Given the description of an element on the screen output the (x, y) to click on. 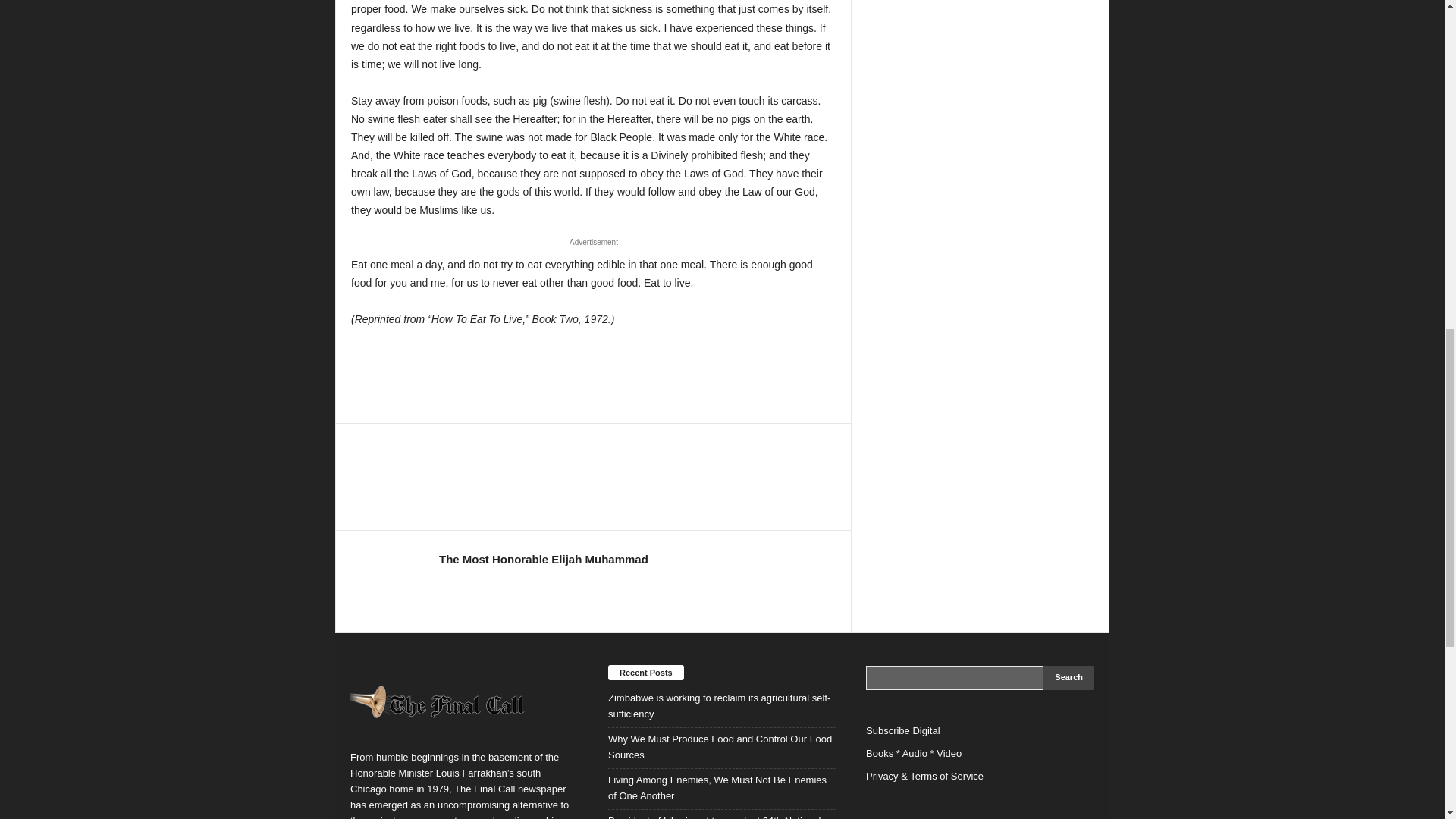
Search (1068, 677)
